Given the description of an element on the screen output the (x, y) to click on. 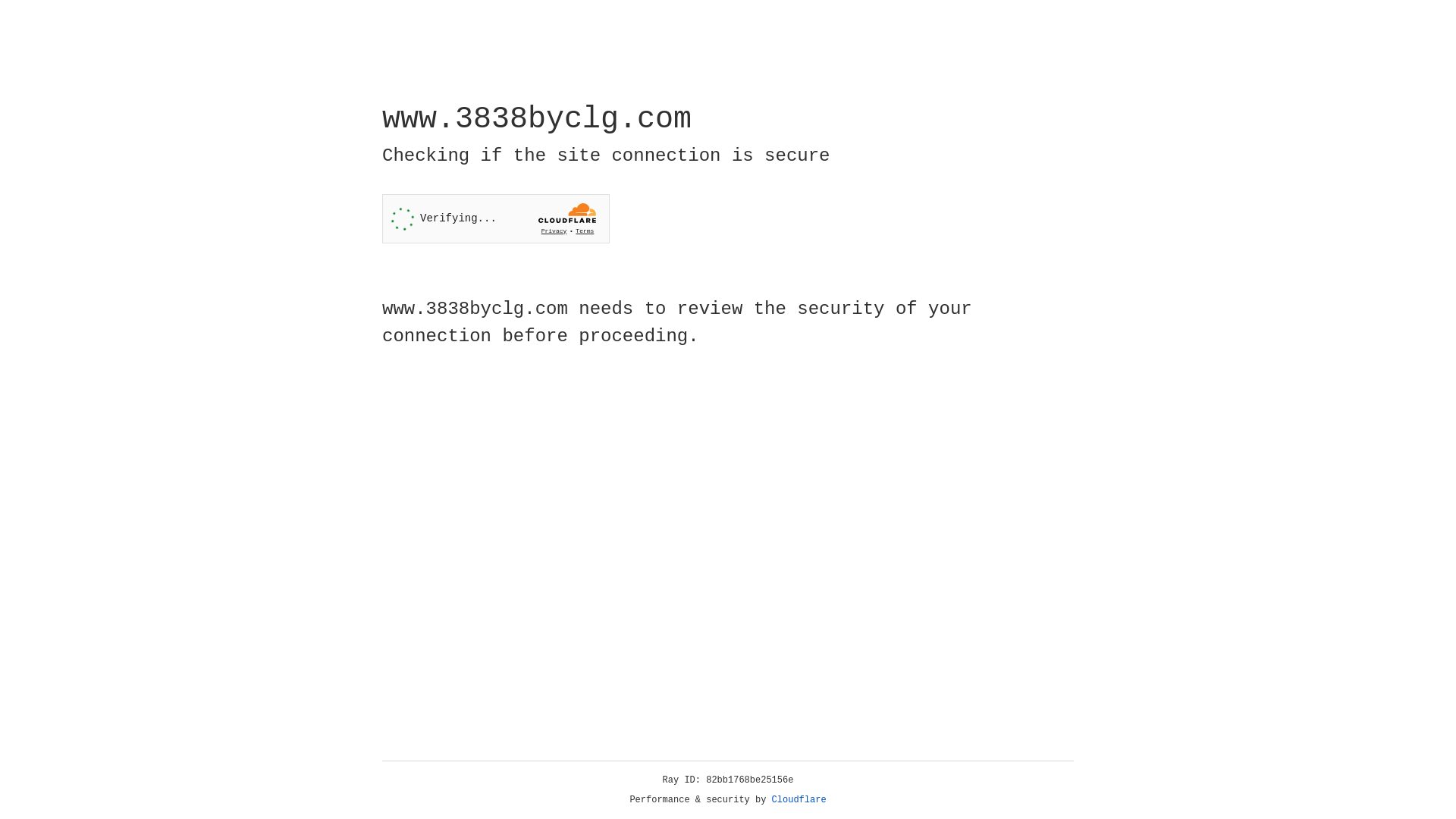
Cloudflare Element type: text (798, 799)
Widget containing a Cloudflare security challenge Element type: hover (495, 218)
